Given the description of an element on the screen output the (x, y) to click on. 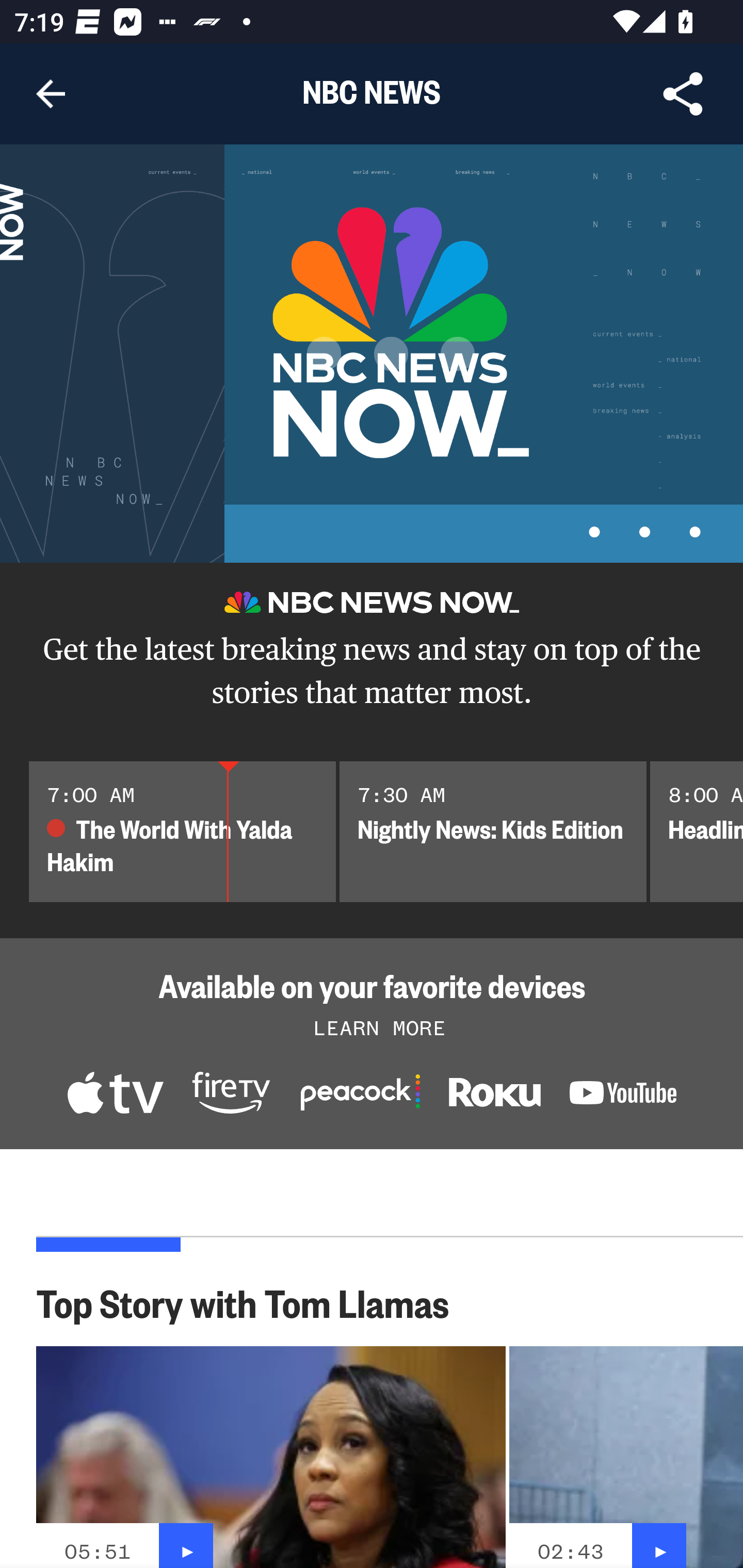
Navigate up (50, 93)
Share Article, button (683, 94)
1260802722430-NBC-News-Now (115, 1095)
B0055DL1G4 (231, 1095)
nbc-news (494, 1096)
nbcnews (622, 1095)
Top Story with Tom Llamas (253, 1301)
05:51  05:51 05:51 05:51  (270, 1456)
05:51 (97, 1551)
02:43 (570, 1551)
